Given the description of an element on the screen output the (x, y) to click on. 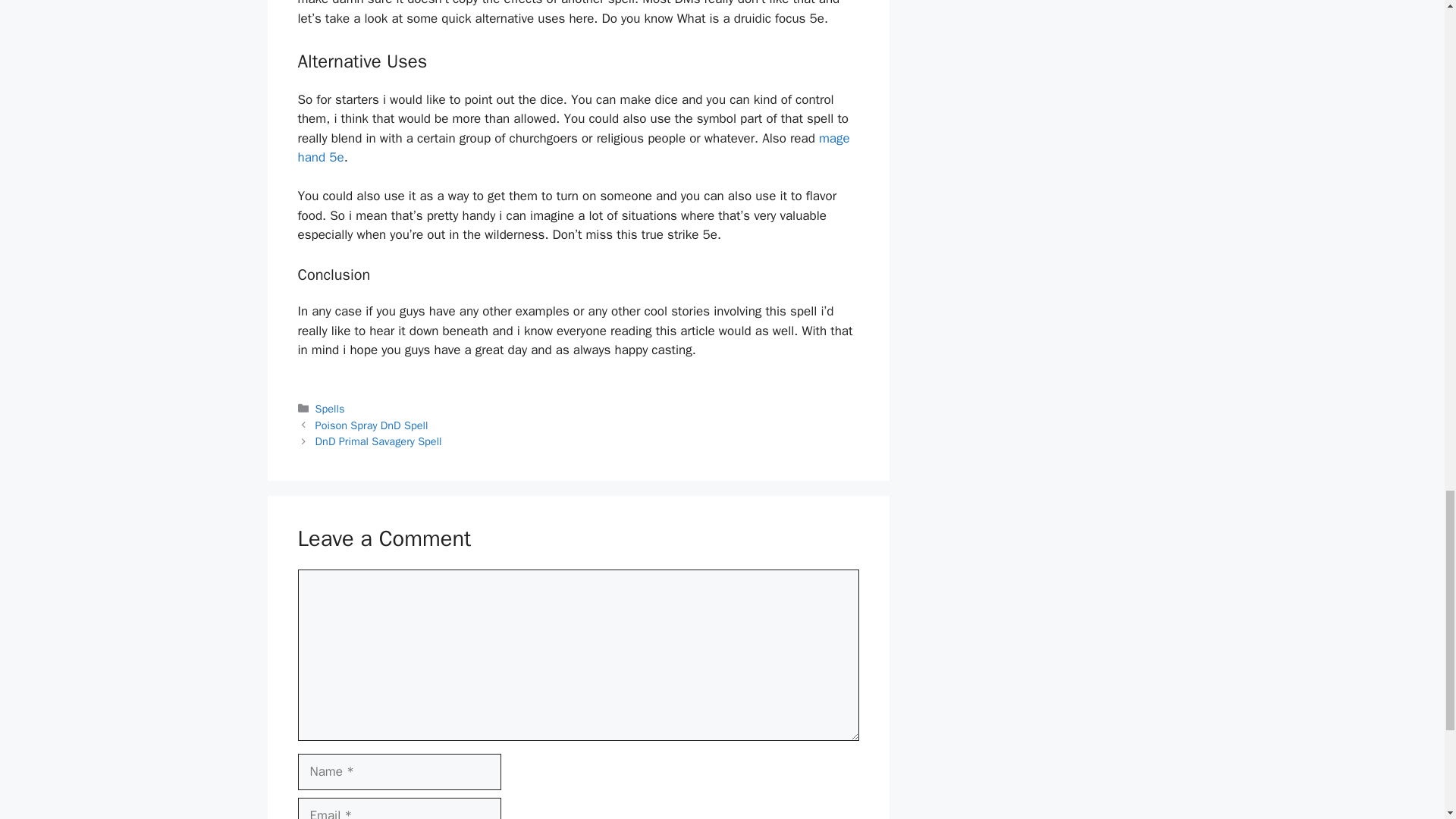
Poison Spray DnD Spell (371, 425)
Spells (330, 408)
DnD Primal Savagery Spell (378, 440)
mage hand 5e (572, 148)
